Given the description of an element on the screen output the (x, y) to click on. 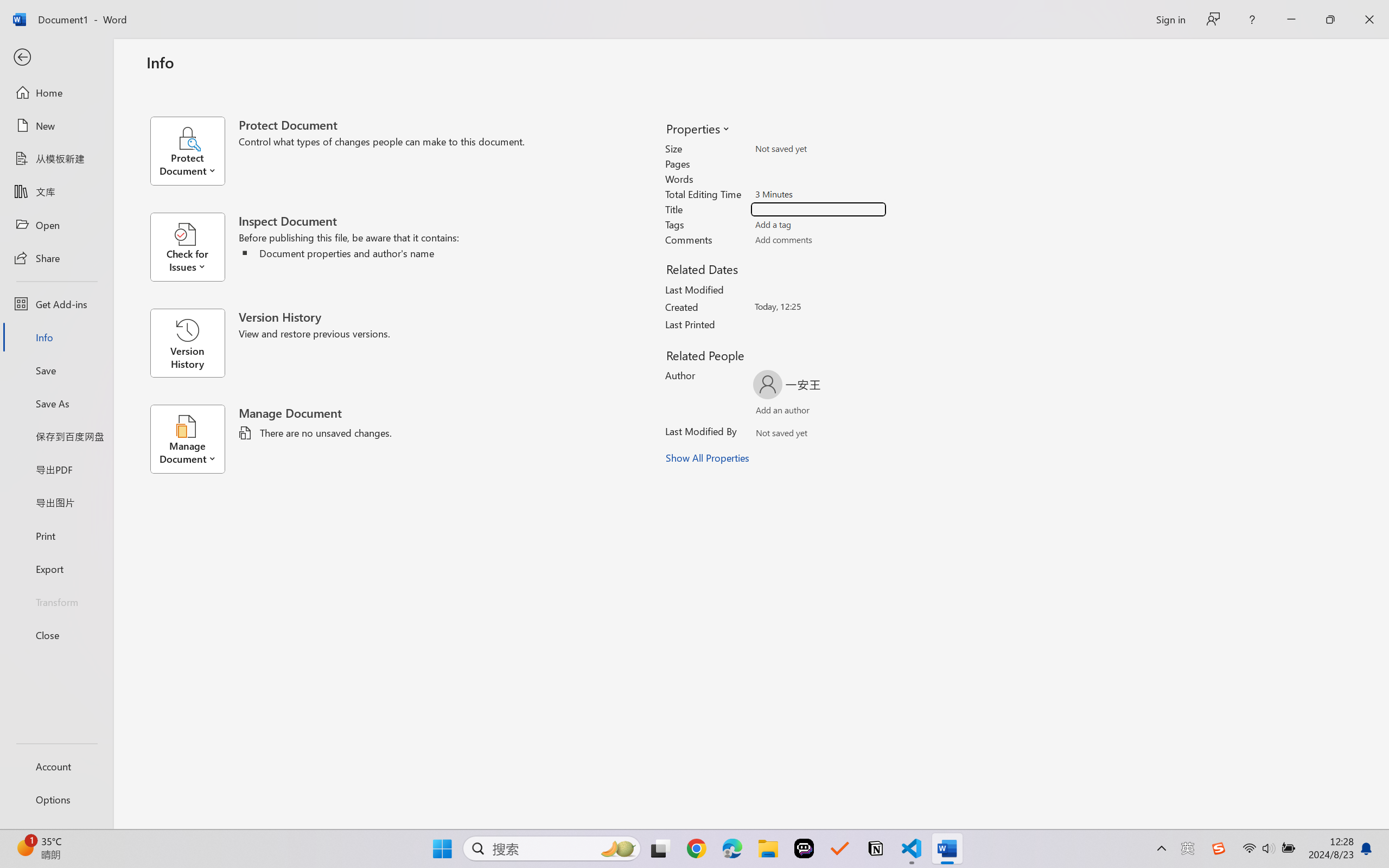
May 14, 2024 (687, 782)
July 15, 2024 (376, 782)
March 12, 2024 (380, 807)
May 29, 2024 (609, 782)
October 24, 2023 (588, 832)
Products (209, 71)
Third-Party Terms keyboard_arrow_down (689, 563)
